Given the description of an element on the screen output the (x, y) to click on. 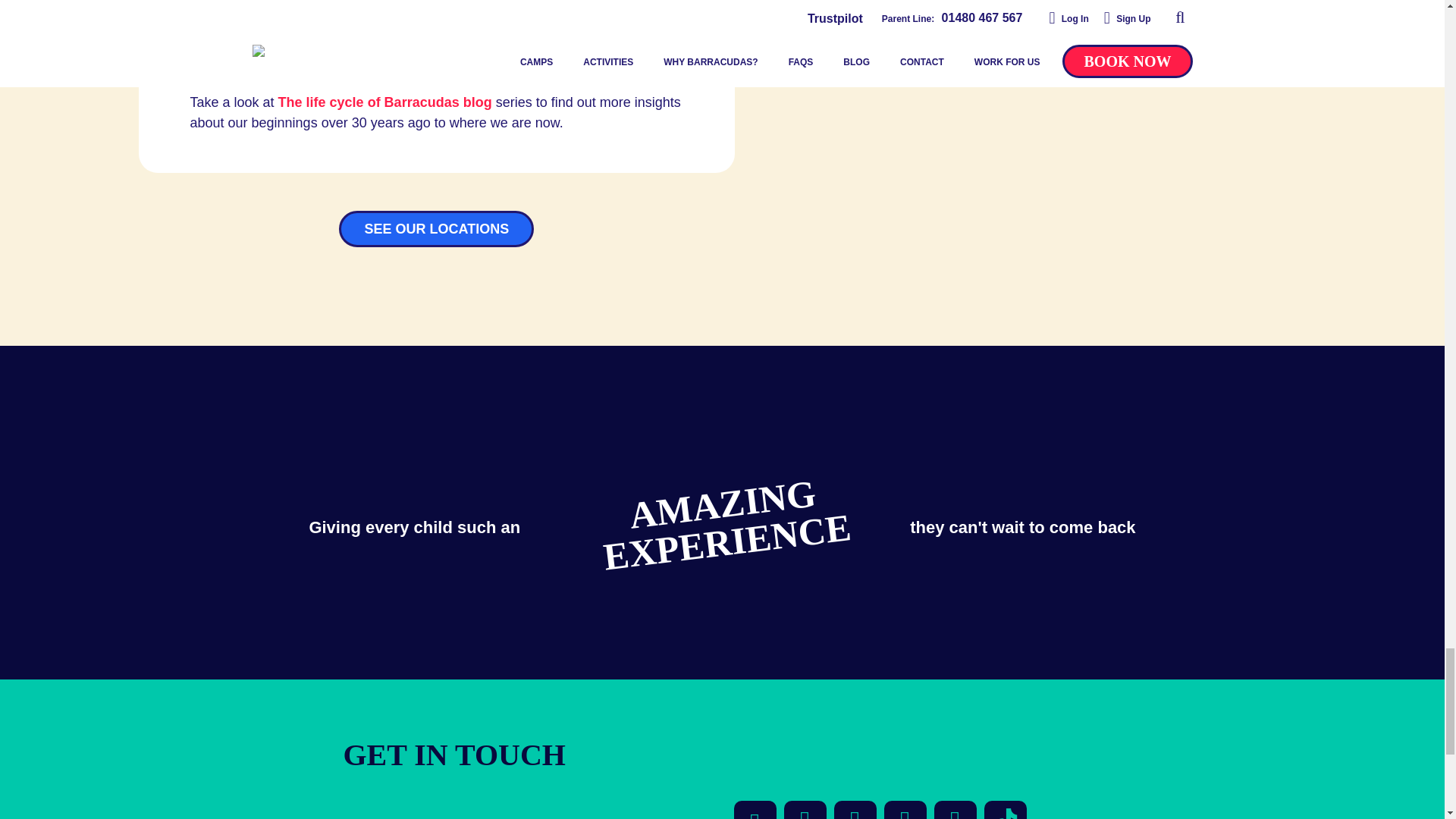
Barracudas Tik Tok (1005, 809)
Twitter (805, 809)
Facebook (754, 809)
Instagram (904, 809)
The life cycle of Barracudas Part 1 - The Vision (385, 102)
LinkedIn (955, 809)
YouTube (855, 809)
